Given the description of an element on the screen output the (x, y) to click on. 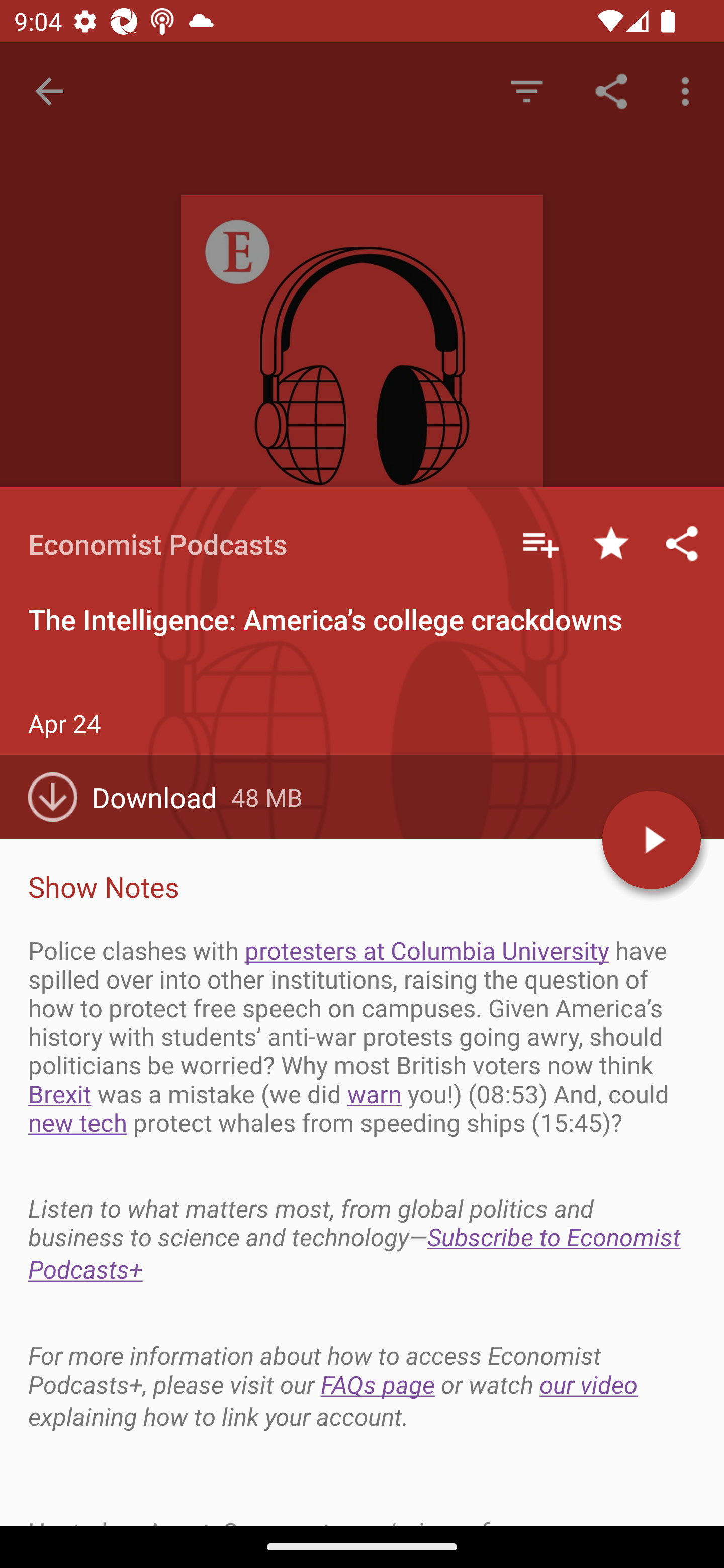
Navigate up (49, 91)
Hide Episodes (526, 90)
Share Link (611, 90)
More options (688, 90)
Download (129, 797)
